Given the description of an element on the screen output the (x, y) to click on. 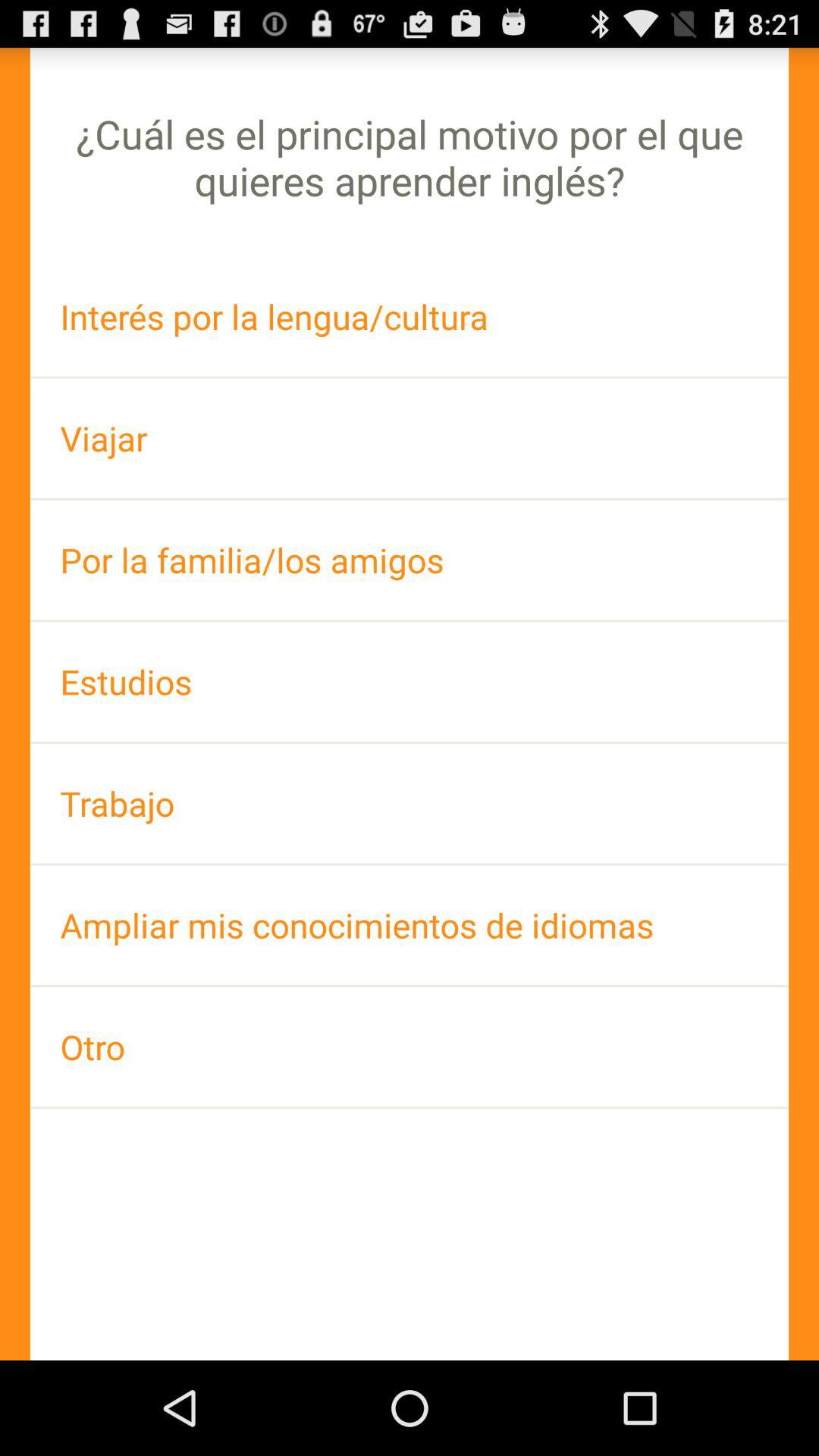
choose icon at the bottom (409, 1046)
